Given the description of an element on the screen output the (x, y) to click on. 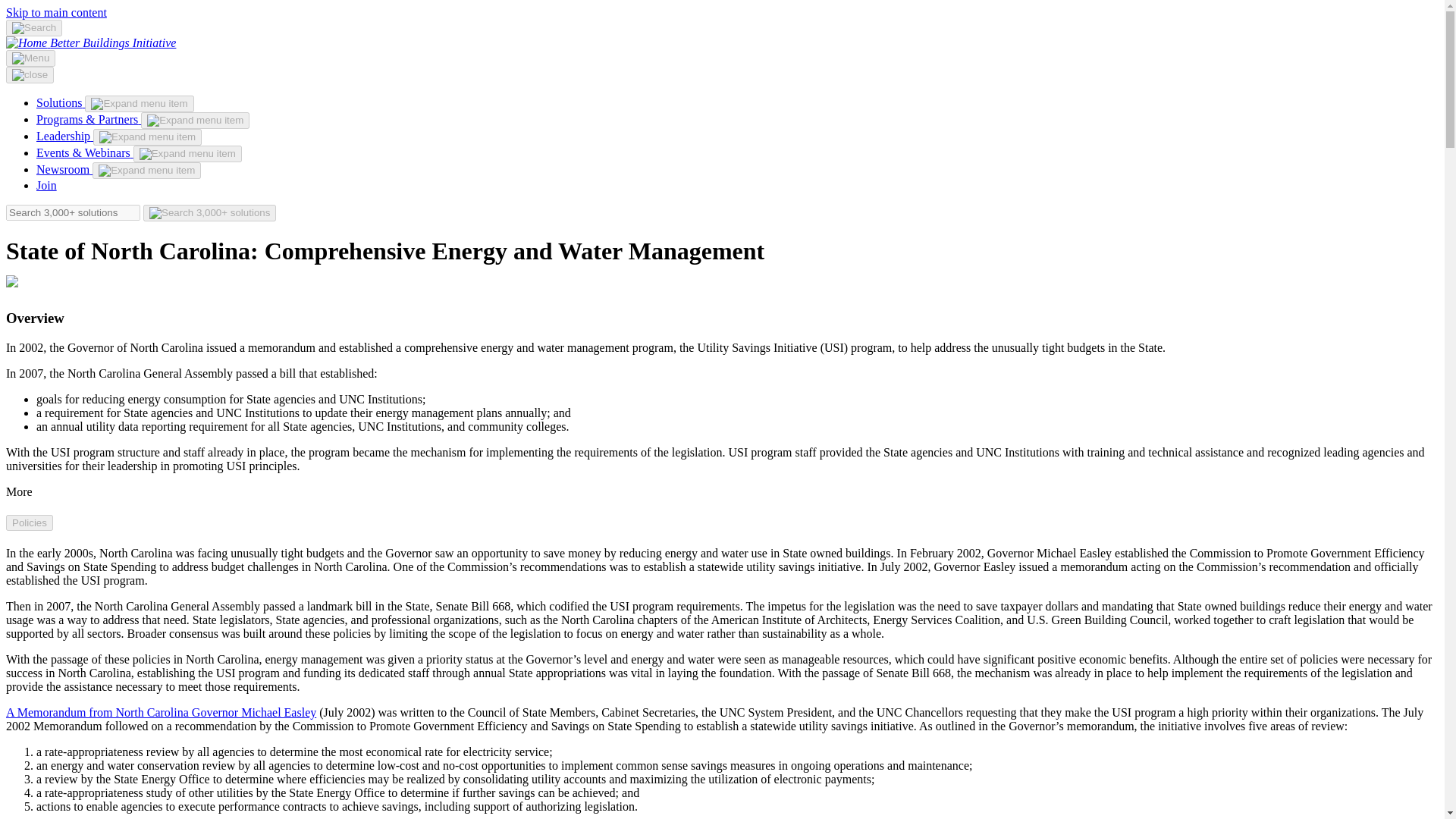
Better Buildings Initiative (112, 42)
Policies (28, 522)
Leadership (64, 135)
More (18, 491)
Home (112, 42)
Newsroom (64, 169)
Home (27, 42)
A Memorandum from North Carolina Governor Michael Easley (160, 712)
Skip to main content (55, 11)
Join (46, 185)
